Given the description of an element on the screen output the (x, y) to click on. 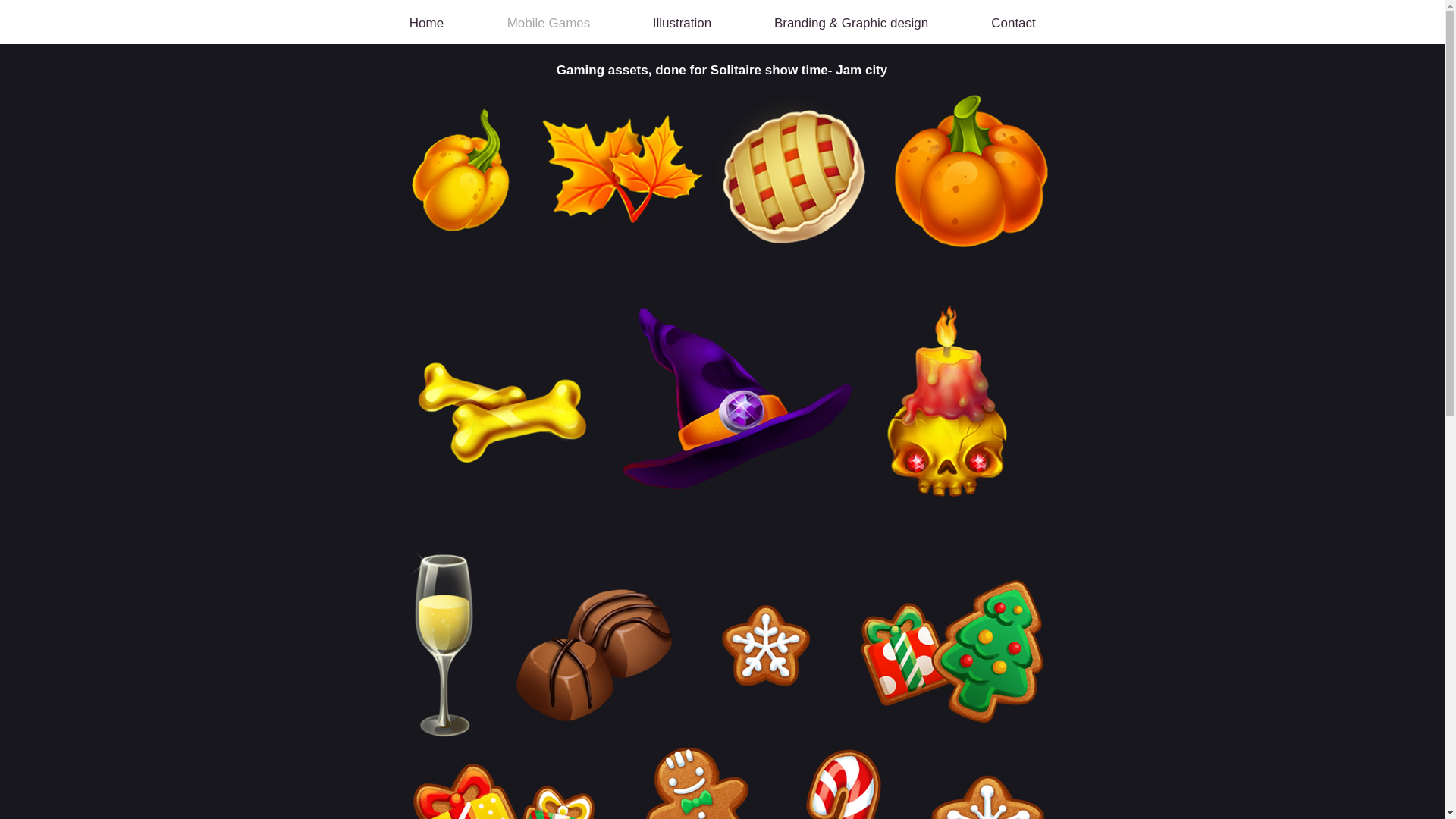
Home (425, 22)
Mobile Games (547, 22)
Contact (1012, 22)
Illustration (681, 22)
